Given the description of an element on the screen output the (x, y) to click on. 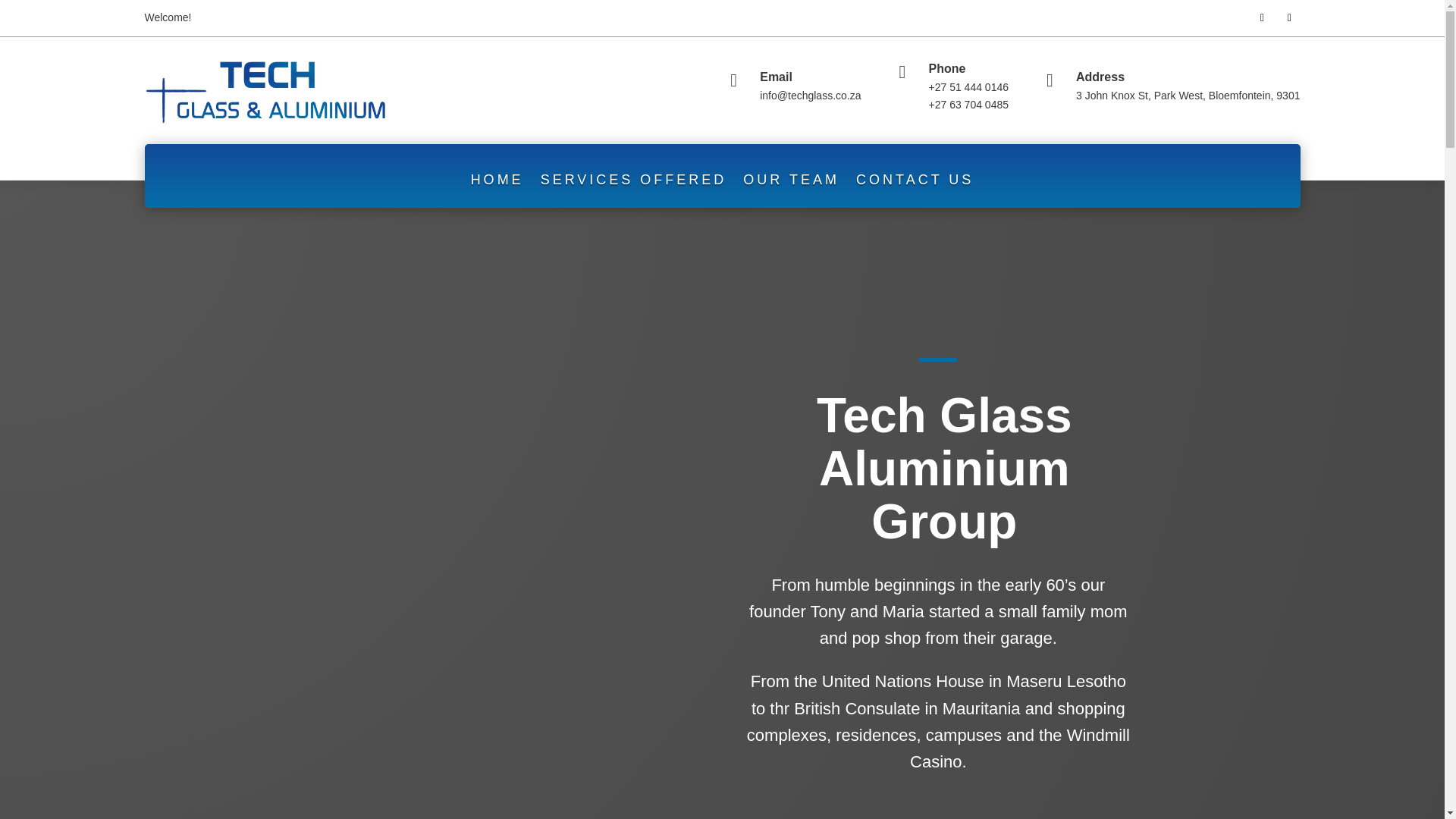
OUR TEAM (791, 179)
HOME (497, 179)
CONTACT US (915, 179)
Phone (946, 68)
Email (776, 76)
Tech Glass Aluminium Group (944, 472)
Follow on Facebook (1261, 17)
SERVICES OFFERED (633, 179)
Follow on Instagram (1289, 17)
